Given the description of an element on the screen output the (x, y) to click on. 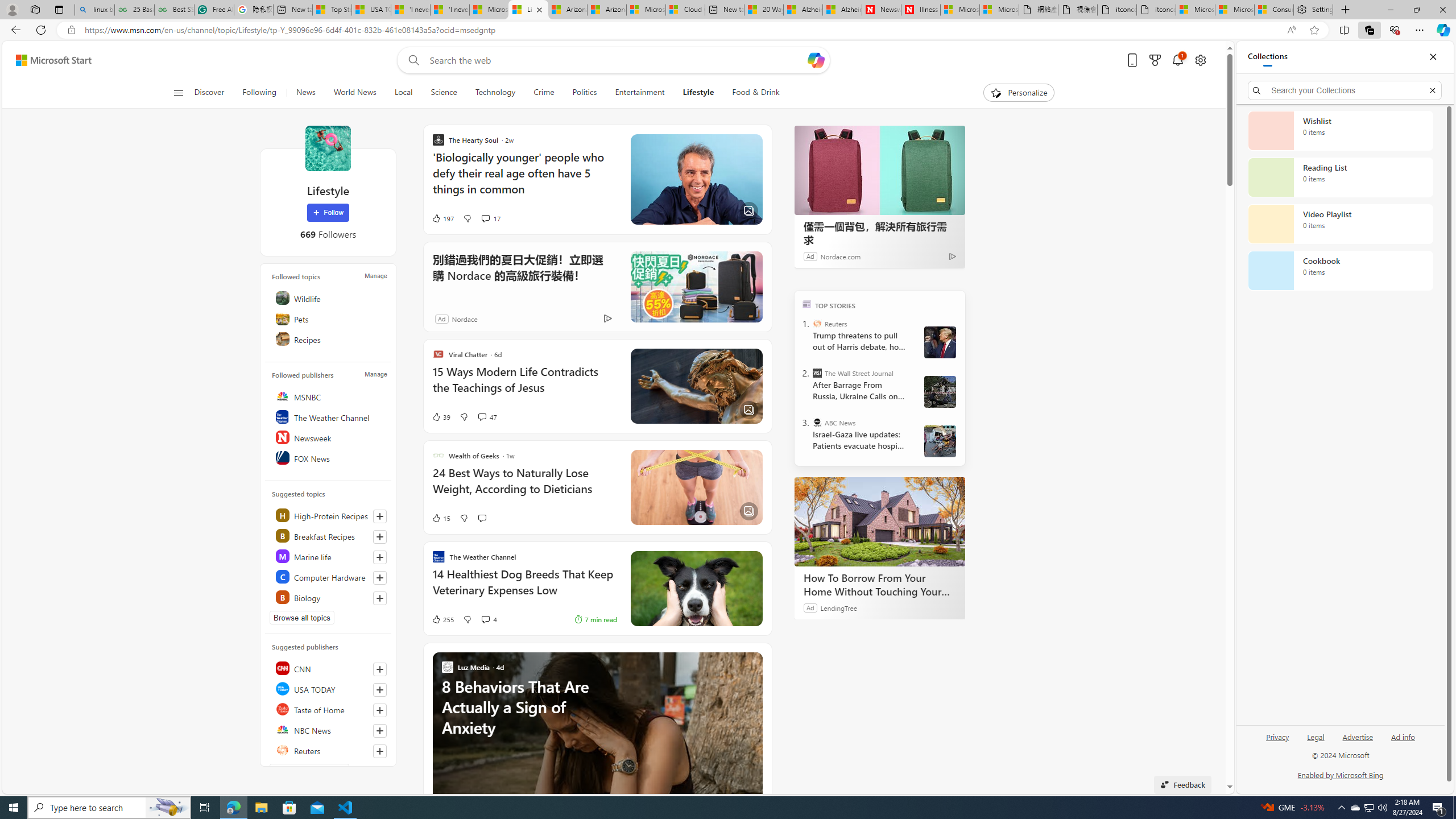
Best SSL Certificates Provider in India - GeeksforGeeks (174, 9)
Open Copilot (815, 59)
Newsweek (328, 437)
Science (443, 92)
Microsoft account | Privacy (1234, 9)
39 Like (440, 416)
Browser essentials (1394, 29)
The Wall Street Journal (816, 372)
Class: button-glyph (178, 92)
Image Credit: Crystal Cox/Business Insider (696, 179)
Microsoft Start (488, 9)
